Given the description of an element on the screen output the (x, y) to click on. 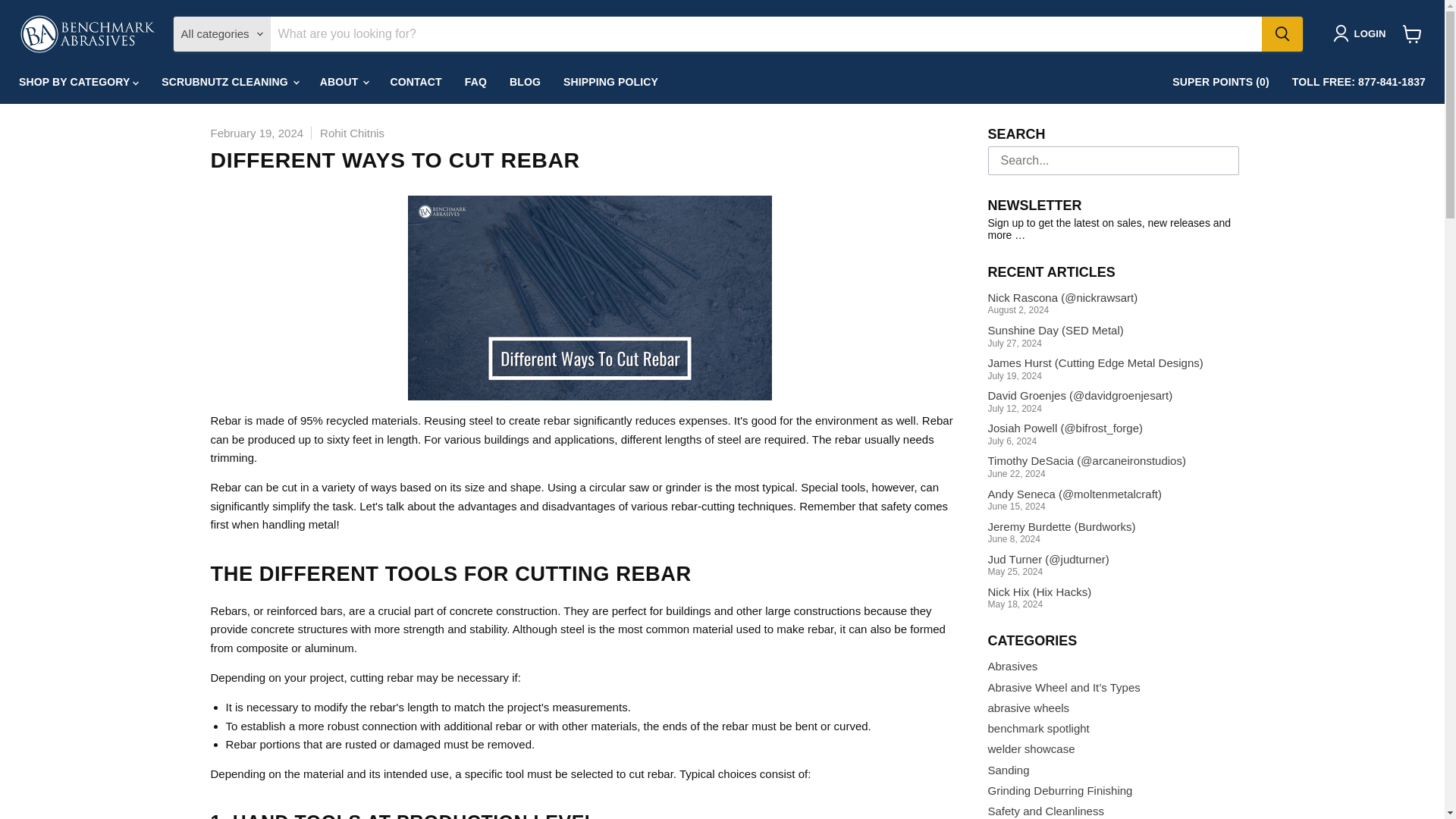
Abrasives (1011, 666)
Safety and Cleanliness (1045, 810)
LOGIN (1362, 33)
Grinding Deburring Finishing (1059, 789)
View cart (1411, 33)
Sanding (1008, 769)
